Given the description of an element on the screen output the (x, y) to click on. 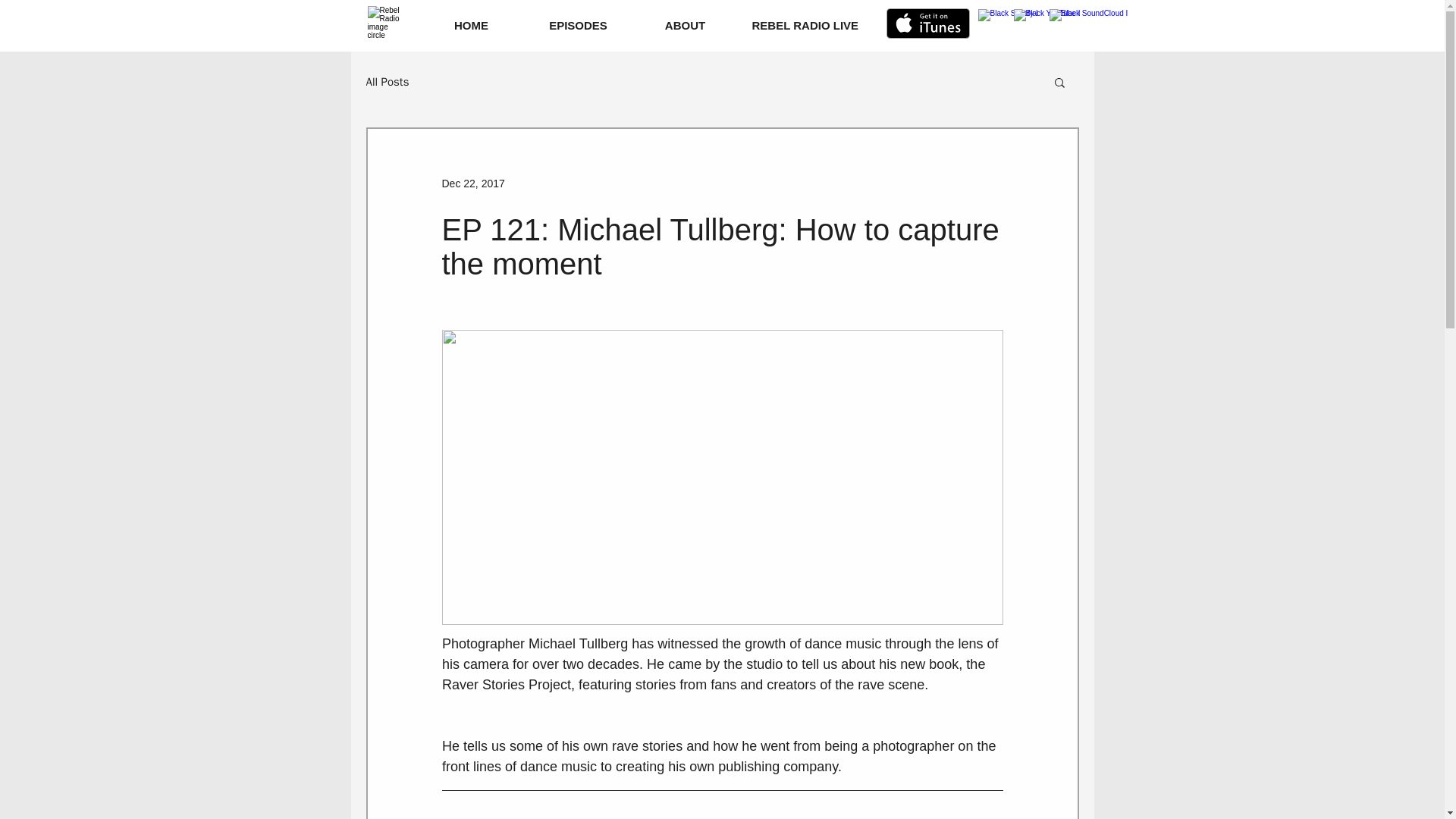
Dec 22, 2017 (472, 183)
All Posts (387, 81)
HOME (470, 24)
ABOUT (685, 24)
EPISODES (578, 24)
Get it on iTunes (927, 23)
REBEL RADIO LIVE (805, 24)
